Given the description of an element on the screen output the (x, y) to click on. 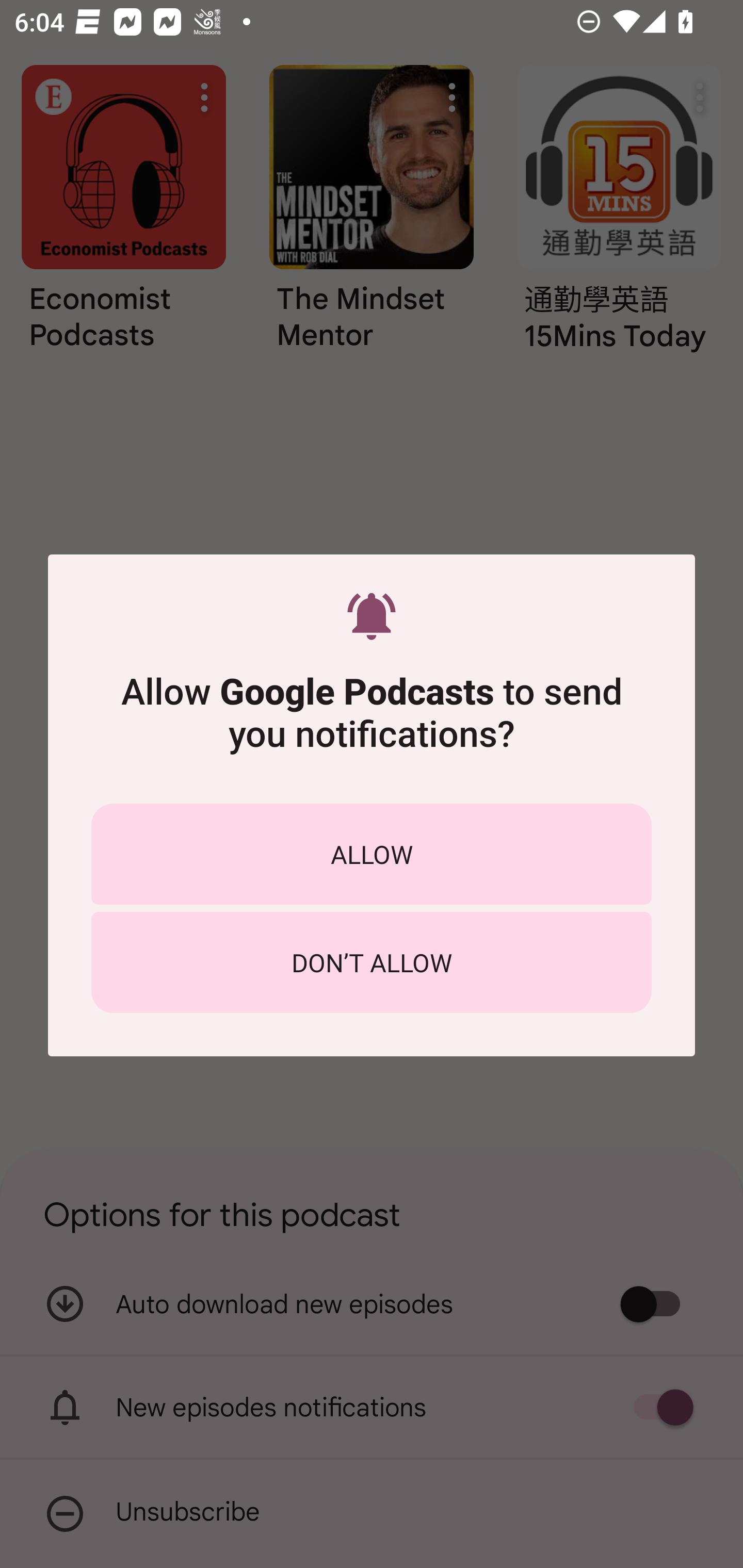
ALLOW (371, 853)
DON’T ALLOW (371, 962)
